Given the description of an element on the screen output the (x, y) to click on. 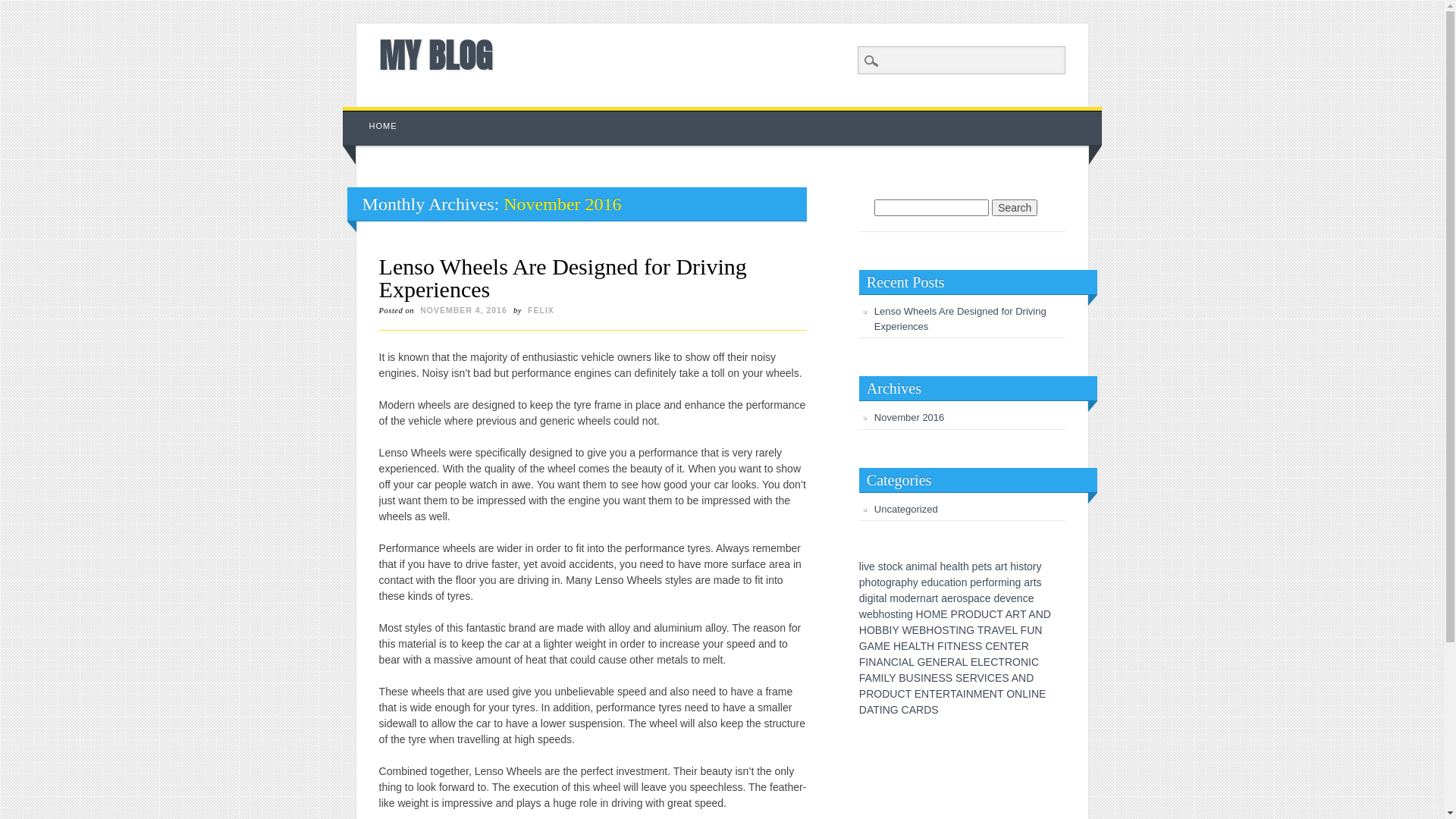
o Element type: text (882, 582)
C Element type: text (900, 693)
A Element type: text (878, 661)
t Element type: text (896, 614)
d Element type: text (996, 598)
E Element type: text (1007, 630)
l Element type: text (885, 598)
I Element type: text (882, 677)
T Element type: text (1022, 614)
T Element type: text (980, 630)
H Element type: text (919, 614)
M Element type: text (936, 614)
t Element type: text (876, 598)
A Element type: text (957, 661)
P Element type: text (862, 693)
I Element type: text (889, 630)
N Element type: text (886, 709)
a Element type: text (908, 566)
U Element type: text (909, 677)
E Element type: text (1041, 693)
c Element type: text (982, 598)
N Element type: text (1003, 646)
E Element type: text (903, 646)
R Element type: text (869, 693)
i Element type: text (862, 566)
A Element type: text (1008, 614)
n Element type: text (964, 582)
C Element type: text (988, 646)
c Element type: text (941, 582)
C Element type: text (990, 677)
a Element type: text (931, 566)
S Element type: text (978, 646)
O Element type: text (937, 630)
r Element type: text (917, 598)
L Element type: text (980, 661)
S Element type: text (948, 677)
E Element type: text (997, 677)
M Element type: text (876, 677)
a Element type: text (897, 582)
N Element type: text (1018, 693)
C Element type: text (1034, 661)
r Element type: text (1031, 582)
S Element type: text (944, 630)
E Element type: text (985, 693)
t Element type: text (984, 566)
s Element type: text (1038, 582)
o Element type: text (873, 582)
R Element type: text (1025, 646)
p Element type: text (975, 566)
D Element type: text (1029, 677)
w Element type: text (862, 614)
a Element type: text (976, 598)
d Element type: text (929, 582)
T Element type: text (950, 646)
e Element type: text (872, 566)
C Element type: text (905, 709)
I Element type: text (956, 630)
O Element type: text (870, 630)
o Element type: text (889, 566)
N Element type: text (936, 661)
I Element type: text (985, 677)
R Element type: text (919, 709)
o Element type: text (959, 598)
g Element type: text (888, 582)
U Element type: text (893, 693)
I Element type: text (1029, 693)
T Element type: text (1000, 693)
N Element type: text (993, 693)
E Element type: text (943, 614)
v Element type: text (866, 566)
m Element type: text (893, 598)
t Element type: text (877, 582)
A Element type: text (1014, 677)
N Element type: text (1039, 614)
L Element type: text (885, 677)
E Element type: text (917, 693)
e Element type: text (950, 598)
o Element type: text (887, 614)
c Element type: text (894, 566)
g Element type: text (1018, 582)
Lenso Wheels Are Designed for Driving Experiences Element type: text (562, 277)
h Element type: text (868, 582)
N Element type: text (871, 661)
E Element type: text (915, 630)
e Element type: text (913, 598)
N Element type: text (956, 646)
r Element type: text (983, 582)
F Element type: text (1023, 630)
A Element type: text (912, 709)
Skip to content Element type: text (377, 114)
l Element type: text (860, 566)
e Element type: text (988, 598)
C Element type: text (993, 661)
R Element type: text (950, 661)
a Element type: text (997, 566)
Uncategorized Element type: text (906, 508)
E Element type: text (934, 677)
t Element type: text (961, 566)
R Element type: text (1008, 661)
P Element type: text (953, 614)
T Element type: text (1000, 661)
N Element type: text (887, 661)
O Element type: text (1016, 661)
t Element type: text (1034, 582)
p Element type: text (903, 582)
o Element type: text (1029, 566)
h Element type: text (881, 614)
T Element type: text (952, 630)
E Element type: text (943, 661)
T Element type: text (999, 614)
n Element type: text (1012, 582)
s Element type: text (880, 566)
t Element type: text (1024, 566)
t Element type: text (884, 566)
C Element type: text (894, 661)
h Element type: text (966, 566)
T Element type: text (931, 693)
a Element type: text (944, 598)
i Element type: text (1008, 582)
m Element type: text (1002, 582)
I Element type: text (964, 693)
r Element type: text (1034, 566)
v Element type: text (1007, 598)
s Element type: text (964, 598)
November 2016 Element type: text (909, 417)
I Element type: text (1029, 661)
N Element type: text (1037, 630)
T Element type: text (953, 693)
h Element type: text (909, 582)
Search Element type: text (1014, 207)
Search Element type: text (22, 8)
R Element type: text (961, 614)
HOME Element type: text (383, 125)
B Element type: text (878, 630)
O Element type: text (1010, 693)
E Element type: text (928, 661)
r Element type: text (933, 598)
B Element type: text (901, 677)
NOVEMBER 4, 2016 Element type: text (463, 309)
d Element type: text (907, 598)
I Element type: text (866, 661)
H Element type: text (930, 646)
p Element type: text (970, 598)
i Element type: text (899, 614)
A Element type: text (910, 646)
E Element type: text (886, 646)
L Element type: text (910, 661)
r Element type: text (955, 598)
e Element type: text (869, 614)
T Element type: text (908, 693)
S Element type: text (934, 709)
E Element type: text (995, 646)
R Element type: text (946, 693)
U Element type: text (1030, 630)
T Element type: text (1010, 646)
y Element type: text (1038, 566)
F Element type: text (862, 677)
L Element type: text (1025, 693)
E Element type: text (963, 646)
a Element type: text (881, 598)
D Element type: text (977, 614)
D Element type: text (885, 693)
e Element type: text (1031, 598)
t Element type: text (936, 598)
E Element type: text (938, 693)
i Element type: text (866, 598)
B Element type: text (922, 630)
i Element type: text (918, 566)
l Element type: text (958, 566)
o Element type: text (958, 582)
F Element type: text (940, 646)
o Element type: text (991, 582)
o Element type: text (901, 598)
l Element type: text (935, 566)
p Element type: text (862, 582)
H Element type: text (862, 630)
N Element type: text (1022, 677)
G Element type: text (894, 709)
O Element type: text (927, 614)
A Element type: text (994, 630)
s Element type: text (1020, 566)
f Element type: text (986, 582)
S Element type: text (1004, 677)
S Element type: text (958, 677)
h Element type: text (1013, 566)
F Element type: text (862, 661)
V Element type: text (980, 677)
U Element type: text (984, 614)
T Element type: text (923, 646)
N Element type: text (924, 693)
E Element type: text (973, 661)
R Element type: text (1015, 614)
t Element type: text (951, 582)
R Element type: text (973, 677)
L Element type: text (1013, 630)
H Element type: text (896, 646)
n Element type: text (914, 566)
p Element type: text (972, 582)
G Element type: text (970, 630)
A Element type: text (958, 693)
H Element type: text (929, 630)
I Element type: text (899, 661)
L Element type: text (964, 661)
N Element type: text (969, 693)
g Element type: text (870, 598)
D Element type: text (1047, 614)
G Element type: text (863, 646)
MY BLOG Element type: text (435, 55)
i Element type: text (954, 582)
y Element type: text (915, 582)
b Element type: text (875, 614)
E Element type: text (965, 677)
D Element type: text (862, 709)
L Element type: text (917, 646)
r Element type: text (1002, 566)
u Element type: text (935, 582)
W Element type: text (906, 630)
h Element type: text (943, 566)
V Element type: text (1000, 630)
e Element type: text (978, 582)
k Element type: text (899, 566)
E Element type: text (986, 661)
a Element type: text (954, 566)
d Element type: text (862, 598)
Y Element type: text (891, 677)
m Element type: text (923, 566)
T Element type: text (875, 709)
FELIX Element type: text (541, 309)
g Element type: text (909, 614)
E Element type: text (1016, 646)
D Element type: text (927, 709)
Lenso Wheels Are Designed for Driving Experiences Element type: text (960, 318)
e Element type: text (980, 566)
n Element type: text (1019, 598)
N Element type: text (1024, 661)
S Element type: text (971, 646)
r Element type: text (893, 582)
r Element type: text (995, 582)
A Element type: text (904, 661)
S Element type: text (941, 677)
N Element type: text (962, 630)
e Element type: text (924, 582)
n Element type: text (922, 598)
e Element type: text (1002, 598)
s Element type: text (988, 566)
i Element type: text (874, 598)
M Element type: text (878, 646)
A Element type: text (870, 646)
B Element type: text (884, 630)
n Element type: text (903, 614)
R Element type: text (987, 630)
N Element type: text (1034, 693)
i Element type: text (1017, 566)
e Element type: text (1013, 598)
N Element type: text (927, 677)
S Element type: text (916, 677)
a Element type: text (1026, 582)
G Element type: text (920, 661)
A Element type: text (868, 677)
O Element type: text (877, 693)
M Element type: text (977, 693)
O Element type: text (969, 614)
e Element type: text (948, 566)
c Element type: text (1025, 598)
a Element type: text (928, 598)
A Element type: text (1031, 614)
A Element type: text (869, 709)
C Element type: text (992, 614)
I Element type: text (880, 709)
I Element type: text (945, 646)
I Element type: text (921, 677)
t Element type: text (1005, 566)
Y Element type: text (894, 630)
a Element type: text (947, 582)
s Element type: text (892, 614)
